Given the description of an element on the screen output the (x, y) to click on. 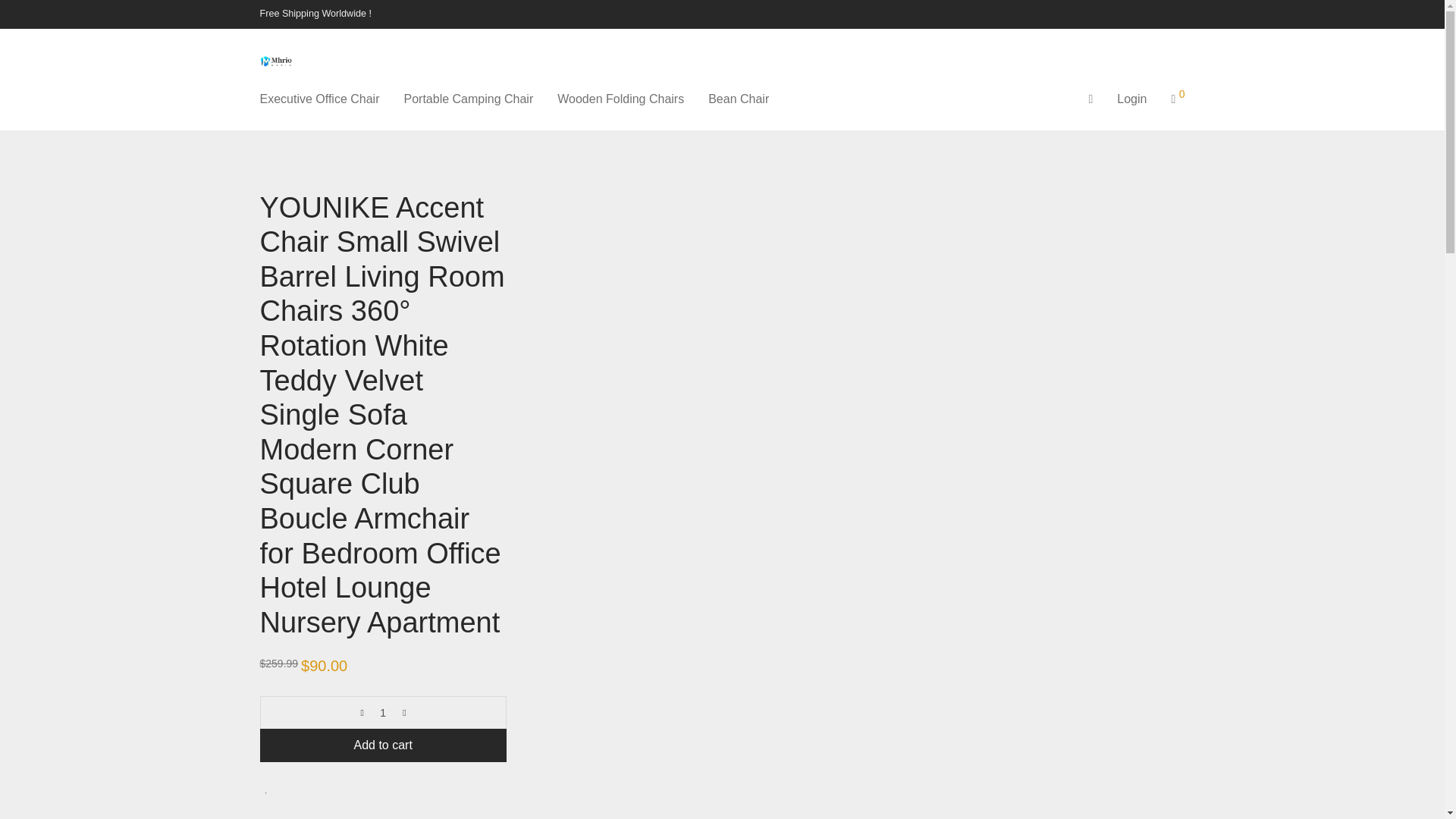
Wooden Folding Chairs (619, 99)
Login (1131, 99)
Add to Wishlist (266, 788)
Executive Office Chair (319, 99)
Portable Camping Chair (467, 99)
Add to cart (382, 745)
Bean Chair (737, 99)
0 (1177, 99)
